Given the description of an element on the screen output the (x, y) to click on. 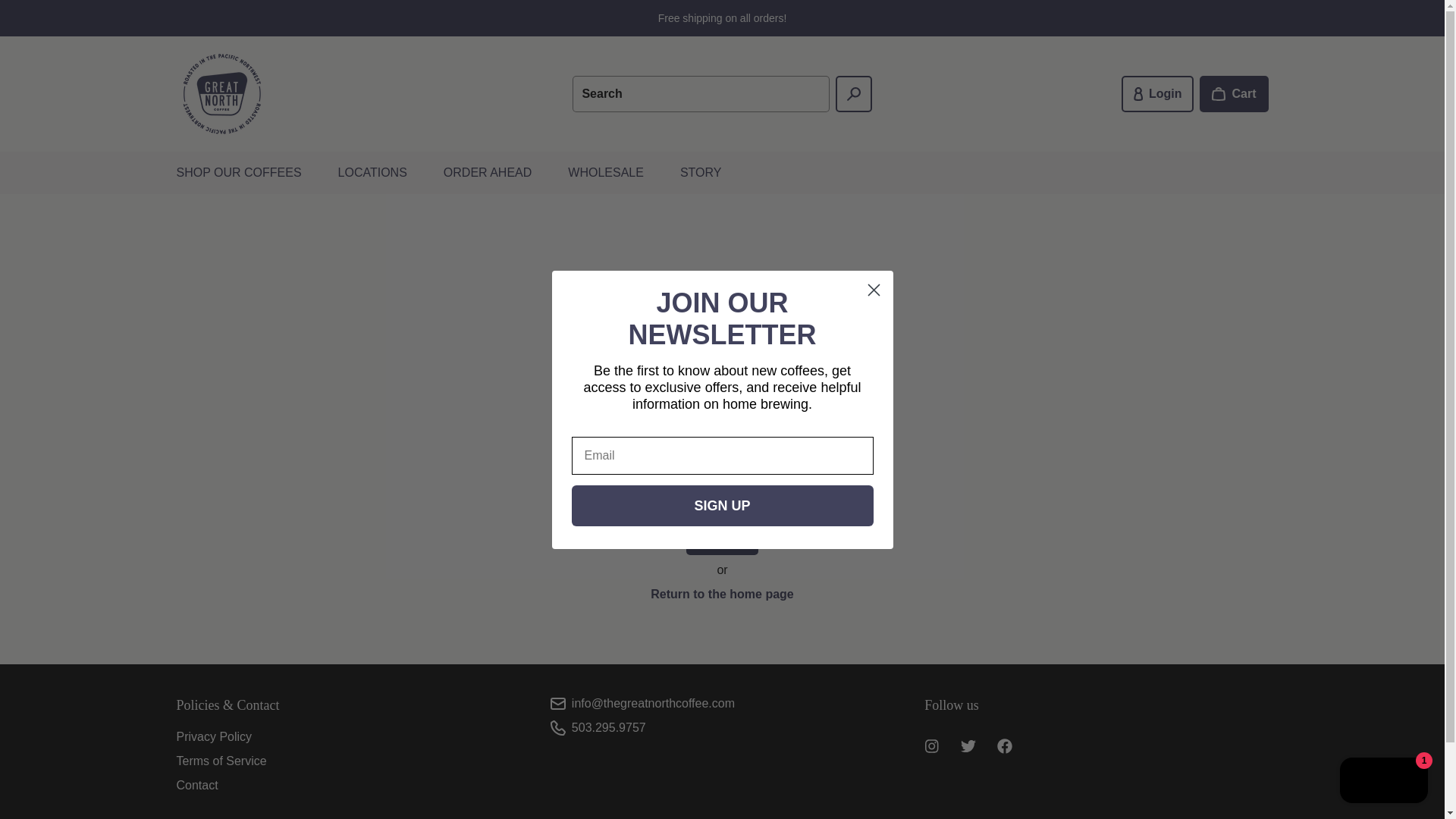
Cart (1233, 94)
WHOLESALE (606, 172)
SIGN UP (722, 505)
SHOP OUR COFFEES (238, 172)
Return to the home page (721, 594)
Submit (18, 6)
Login (1157, 94)
Facebook (1005, 746)
Twitter (968, 746)
Privacy Policy (213, 736)
LOCATIONS (372, 172)
Great North Coffee (221, 93)
Contact (196, 784)
ORDER AHEAD (486, 172)
503.295.9757 (609, 727)
